Given the description of an element on the screen output the (x, y) to click on. 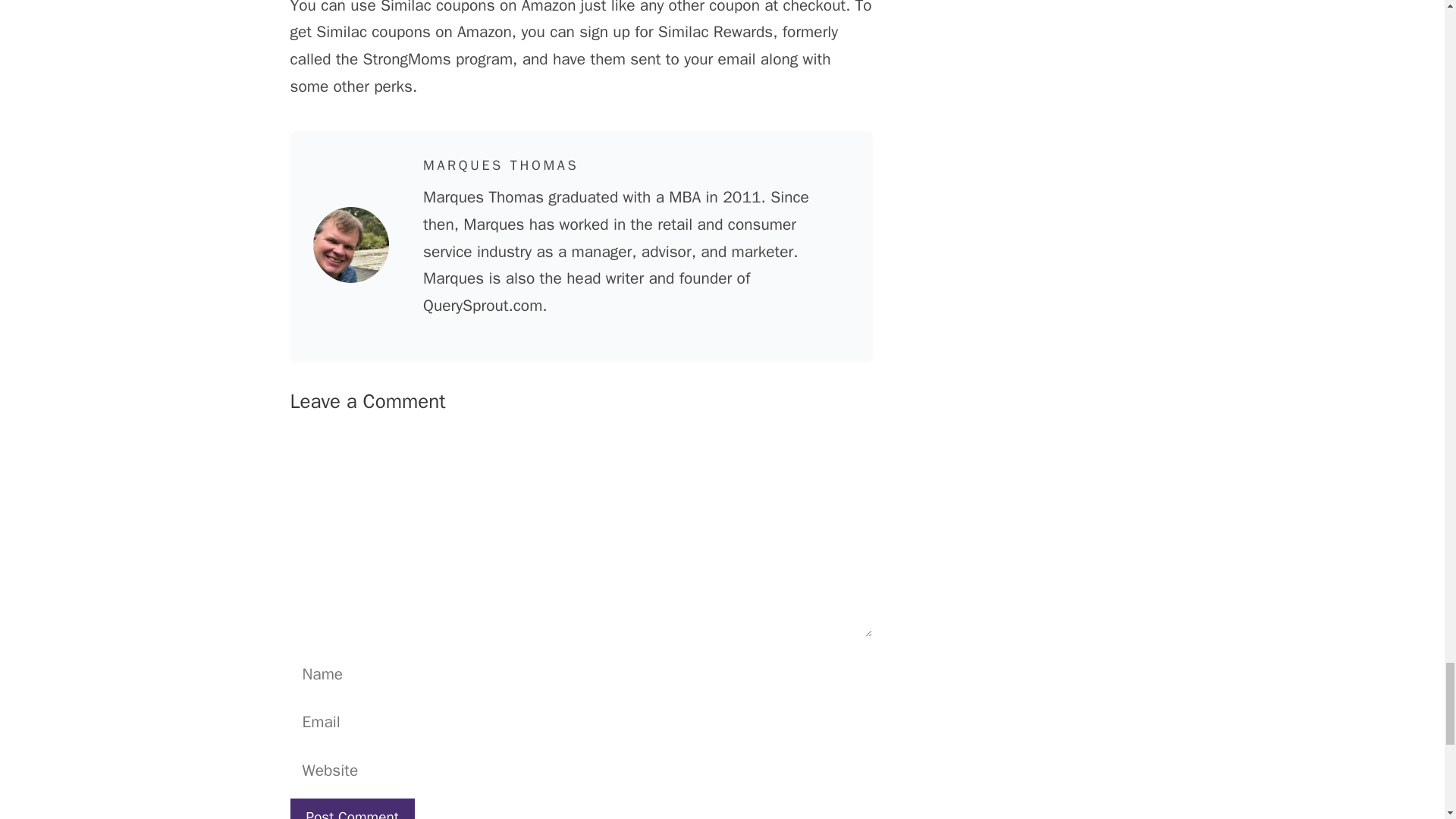
Post Comment (351, 808)
